Given the description of an element on the screen output the (x, y) to click on. 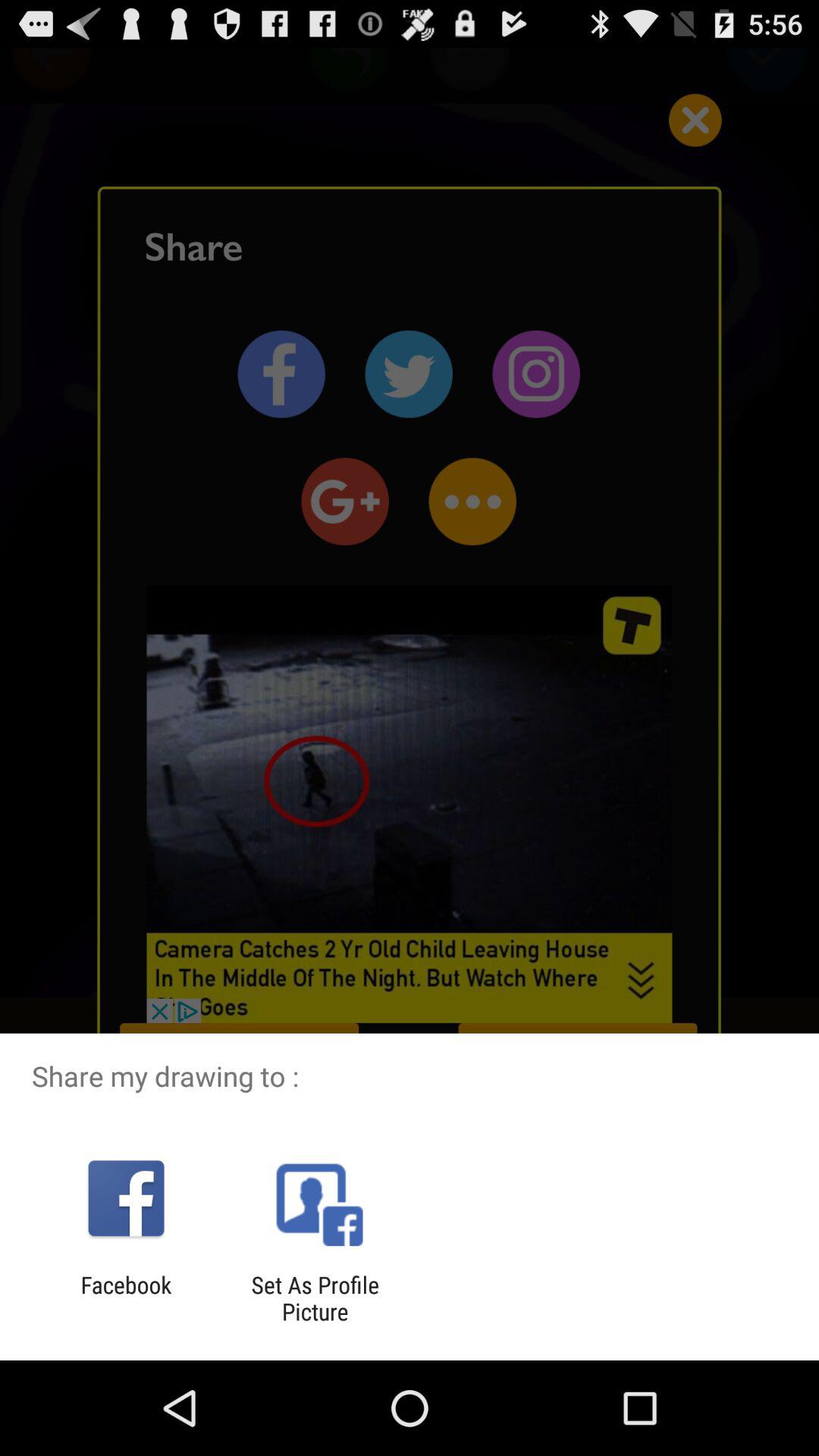
open the item next to the set as profile (125, 1298)
